Given the description of an element on the screen output the (x, y) to click on. 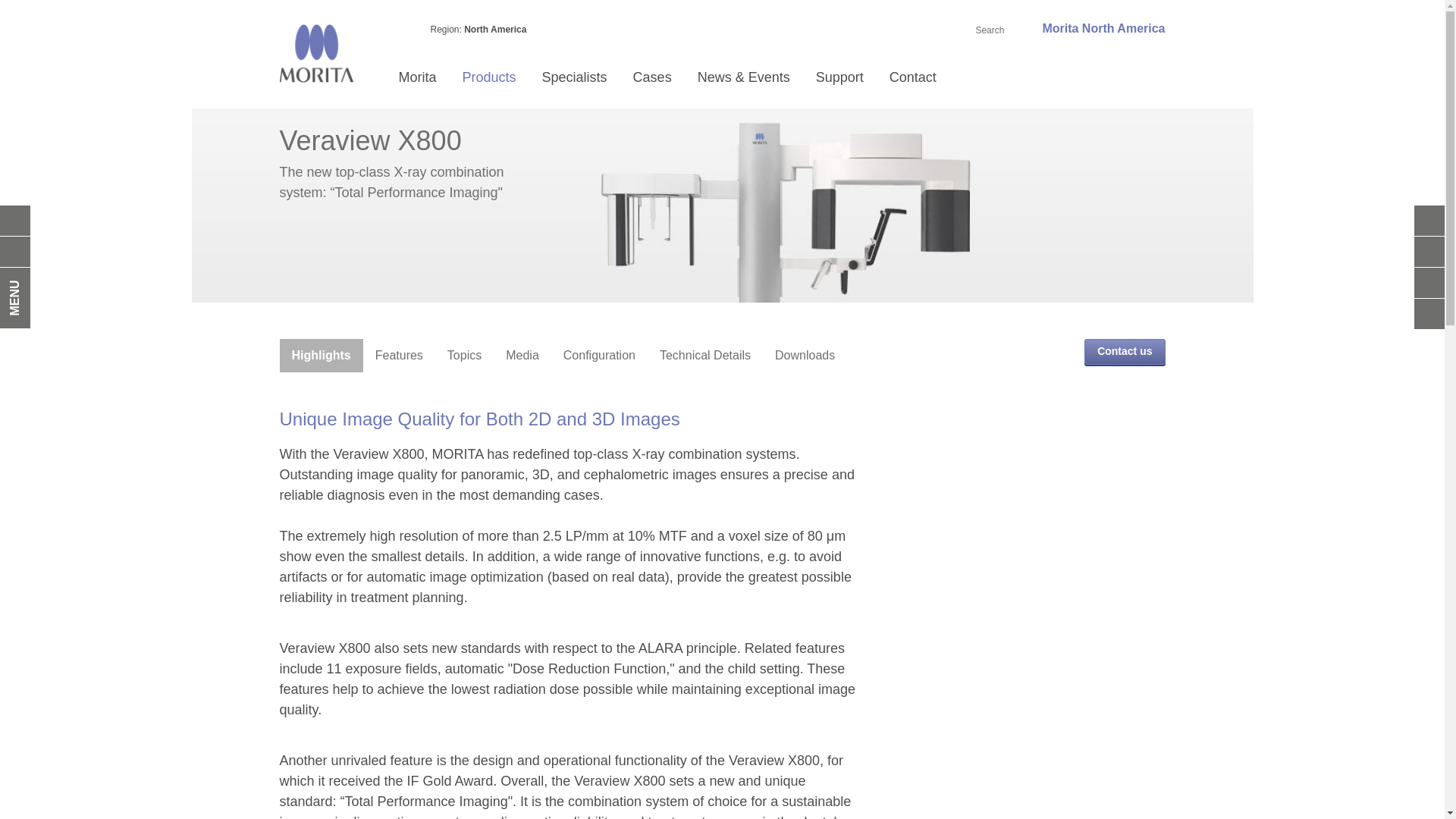
Promotions (798, 184)
Locations (990, 184)
Contact (912, 76)
Warranty Information (916, 184)
Cases (652, 76)
Endodontic Systems (563, 210)
Safety Data Sheets (916, 113)
Partner Products (563, 280)
History (499, 326)
Morita (416, 76)
